Given the description of an element on the screen output the (x, y) to click on. 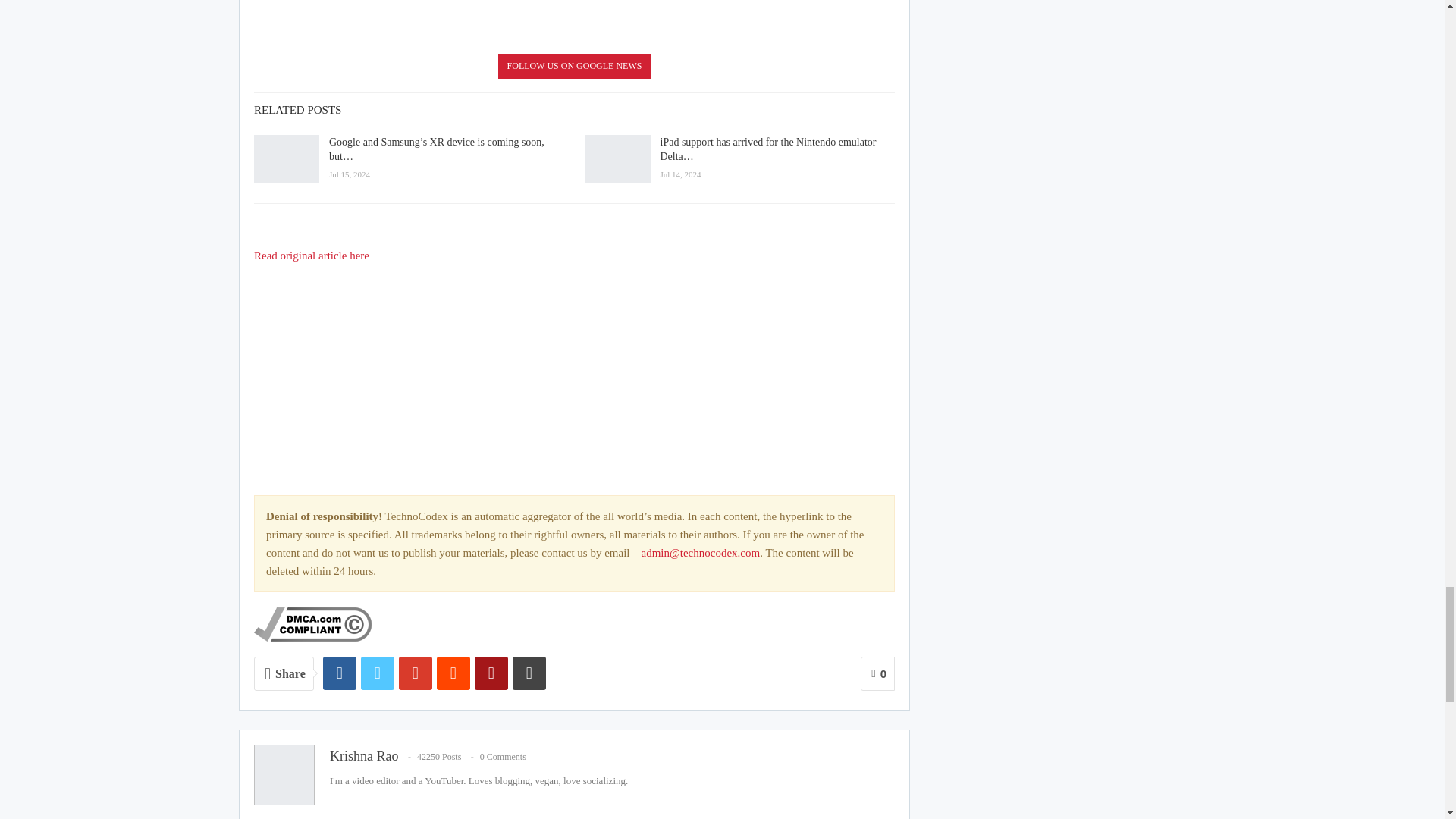
Read original article here (311, 255)
FOLLOW US ON GOOGLE NEWS (573, 66)
DMCA Compliance information for technocodex.com (312, 623)
